Given the description of an element on the screen output the (x, y) to click on. 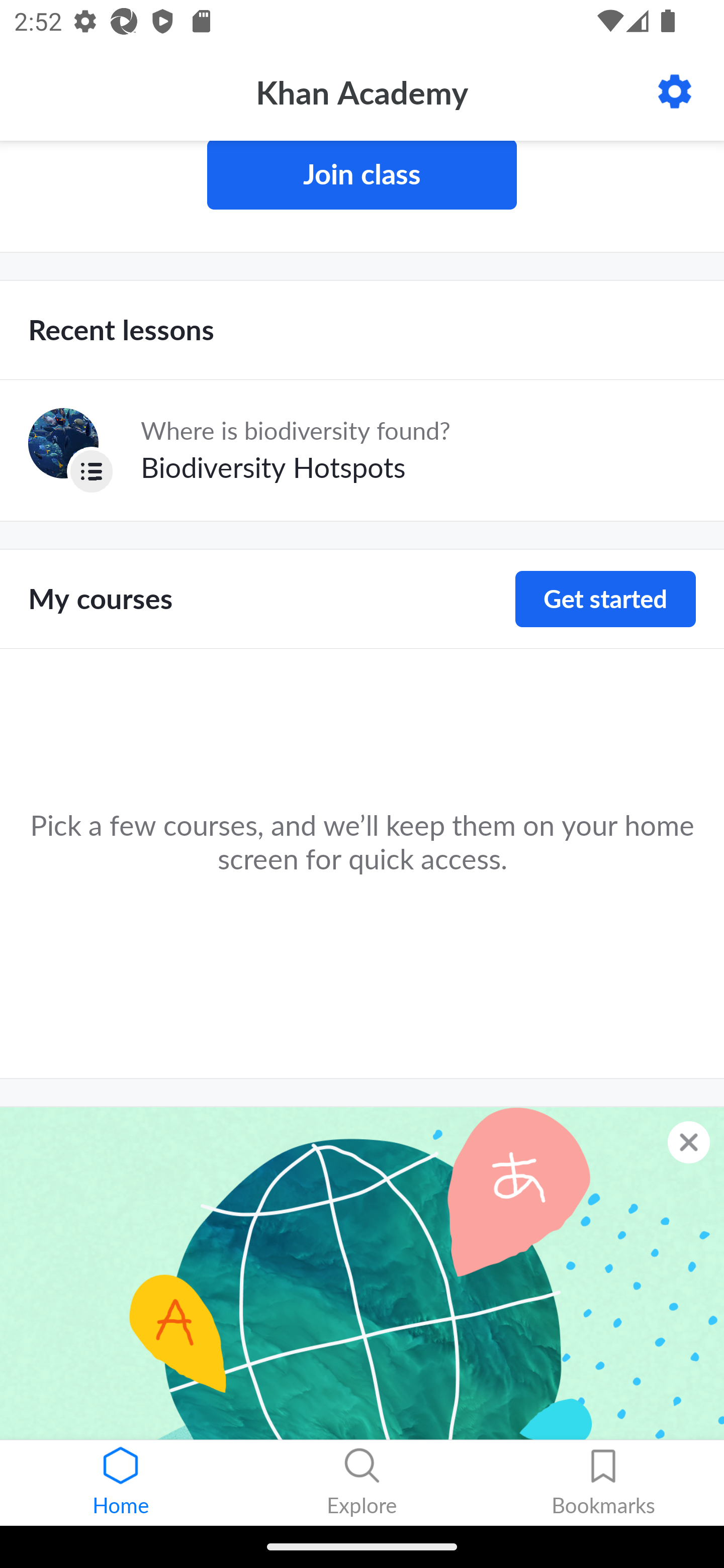
Settings (674, 91)
Join class (361, 175)
Get started (605, 598)
Dismiss (688, 1142)
Home (120, 1482)
Explore (361, 1482)
Bookmarks (603, 1482)
